Given the description of an element on the screen output the (x, y) to click on. 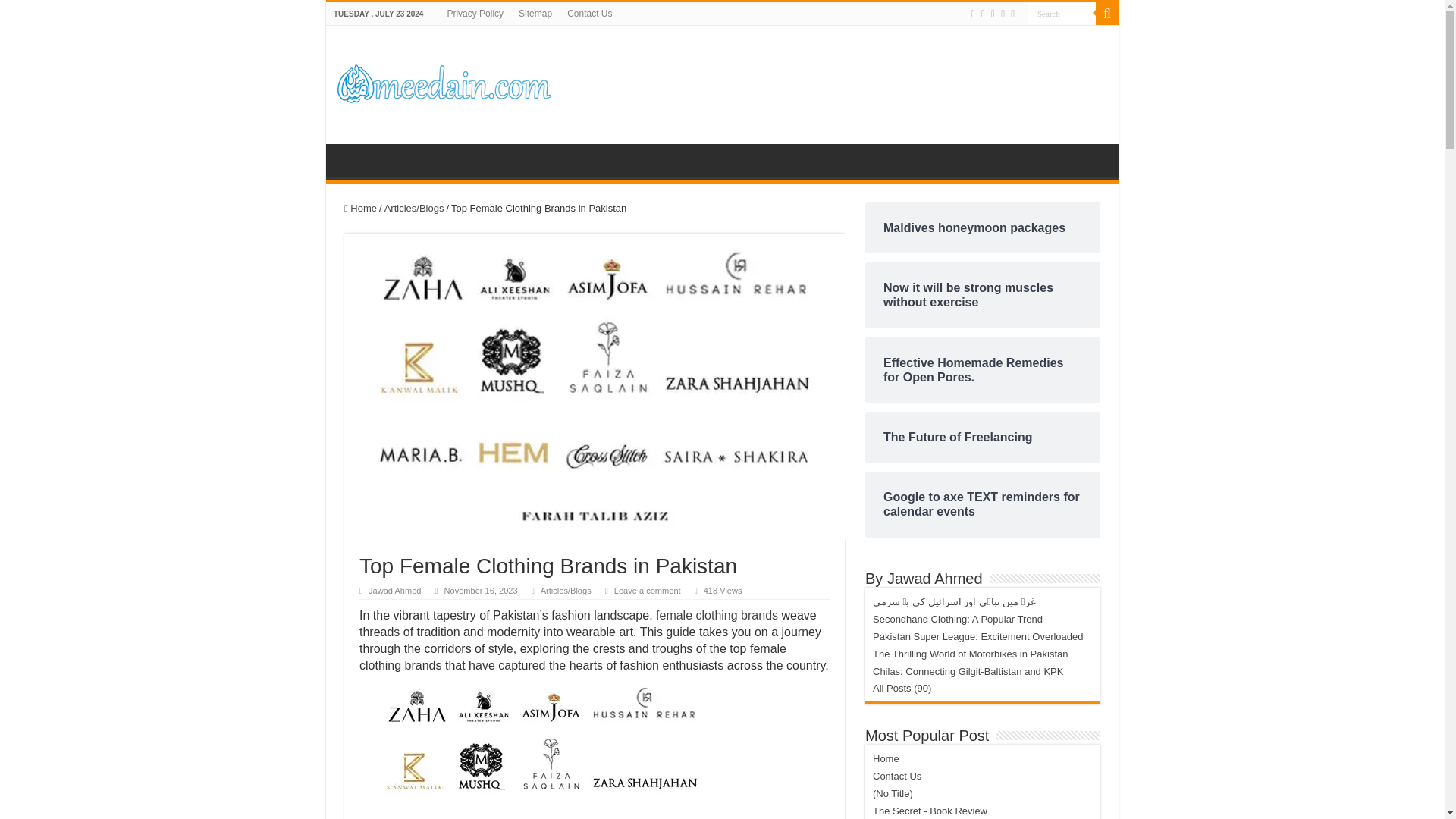
Twitter (983, 13)
Leave a comment (647, 590)
Jawad Ahmed (394, 590)
Youtube (1002, 13)
Privacy Policy (475, 13)
Search (1107, 13)
female clothing brands (716, 615)
Facebook (972, 13)
Search (1061, 13)
Home (360, 207)
Search (1061, 13)
Contact Us (589, 13)
Search (1061, 13)
Sitemap (535, 13)
